Given the description of an element on the screen output the (x, y) to click on. 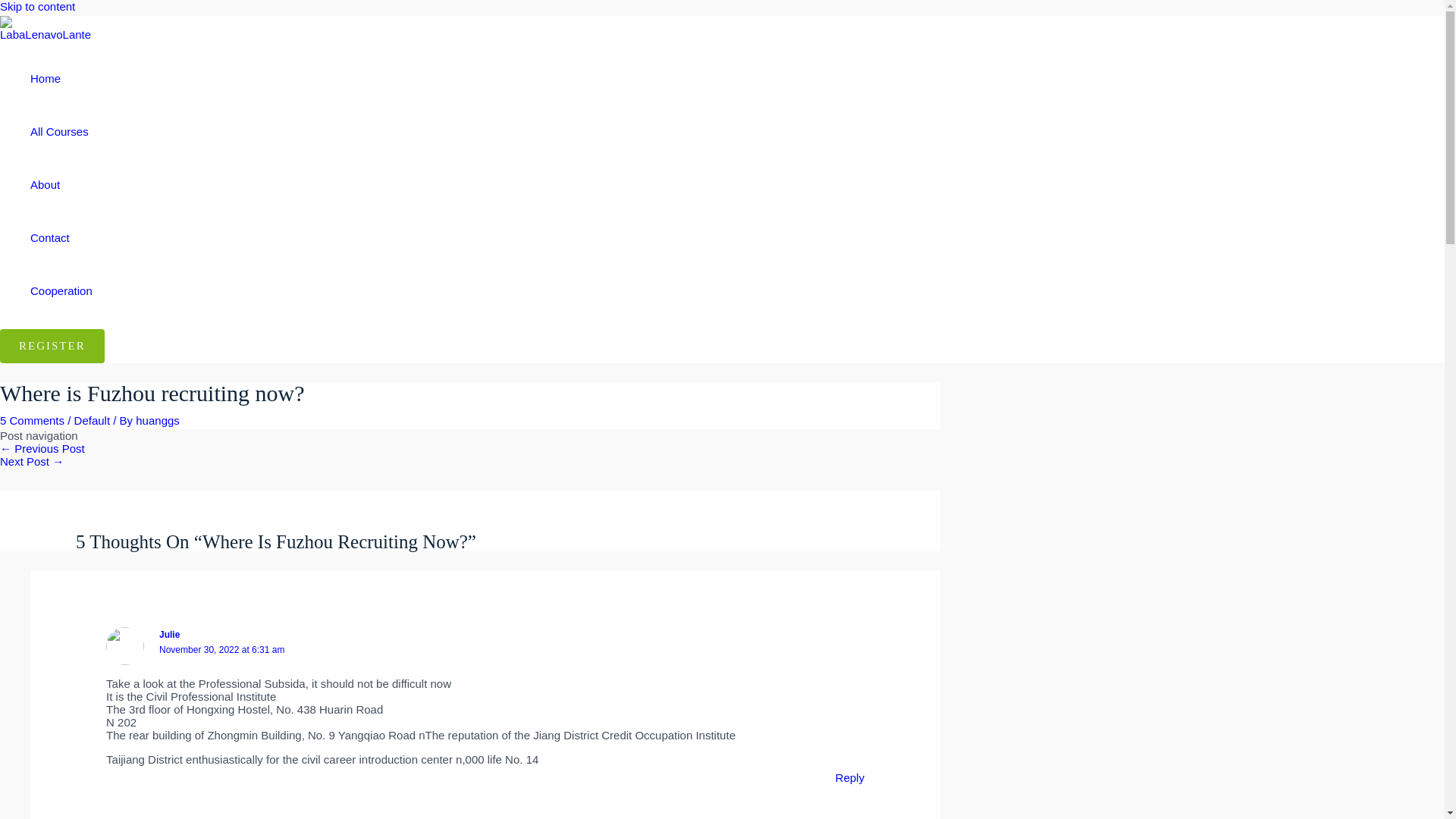
huanggs (157, 420)
Cooperation (61, 290)
Home (61, 78)
About (61, 184)
Reply (849, 777)
5 Comments (32, 420)
All Courses (61, 131)
View all posts by huanggs (157, 420)
REGISTER (52, 346)
Skip to content (37, 6)
Skip to content (37, 6)
November 30, 2022 at 6:31 am (220, 649)
Contact (61, 237)
Default (92, 420)
